Given the description of an element on the screen output the (x, y) to click on. 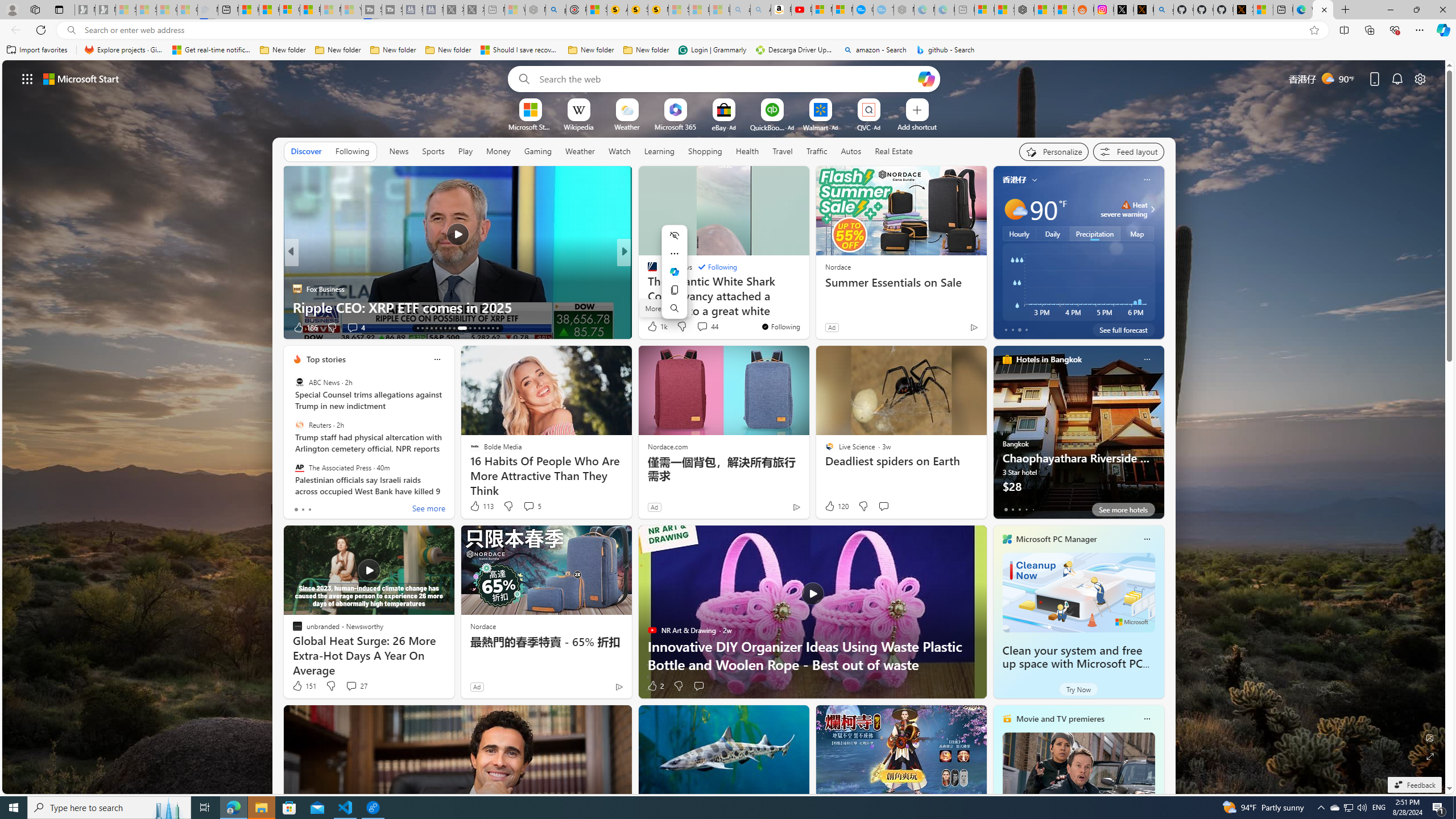
Microsoft Start Sports (529, 126)
Microsoft start (81, 78)
View comments 3 Comment (702, 327)
Favorites bar (728, 49)
New folder (646, 49)
X - Sleeping (473, 9)
113 Like (480, 505)
Play (465, 151)
ABC News (299, 382)
Dislike (678, 685)
Log in to X / X (1123, 9)
128 Like (654, 327)
Microsoft PC Manager (1056, 538)
Search (520, 78)
tab-1 (1012, 509)
